Given the description of an element on the screen output the (x, y) to click on. 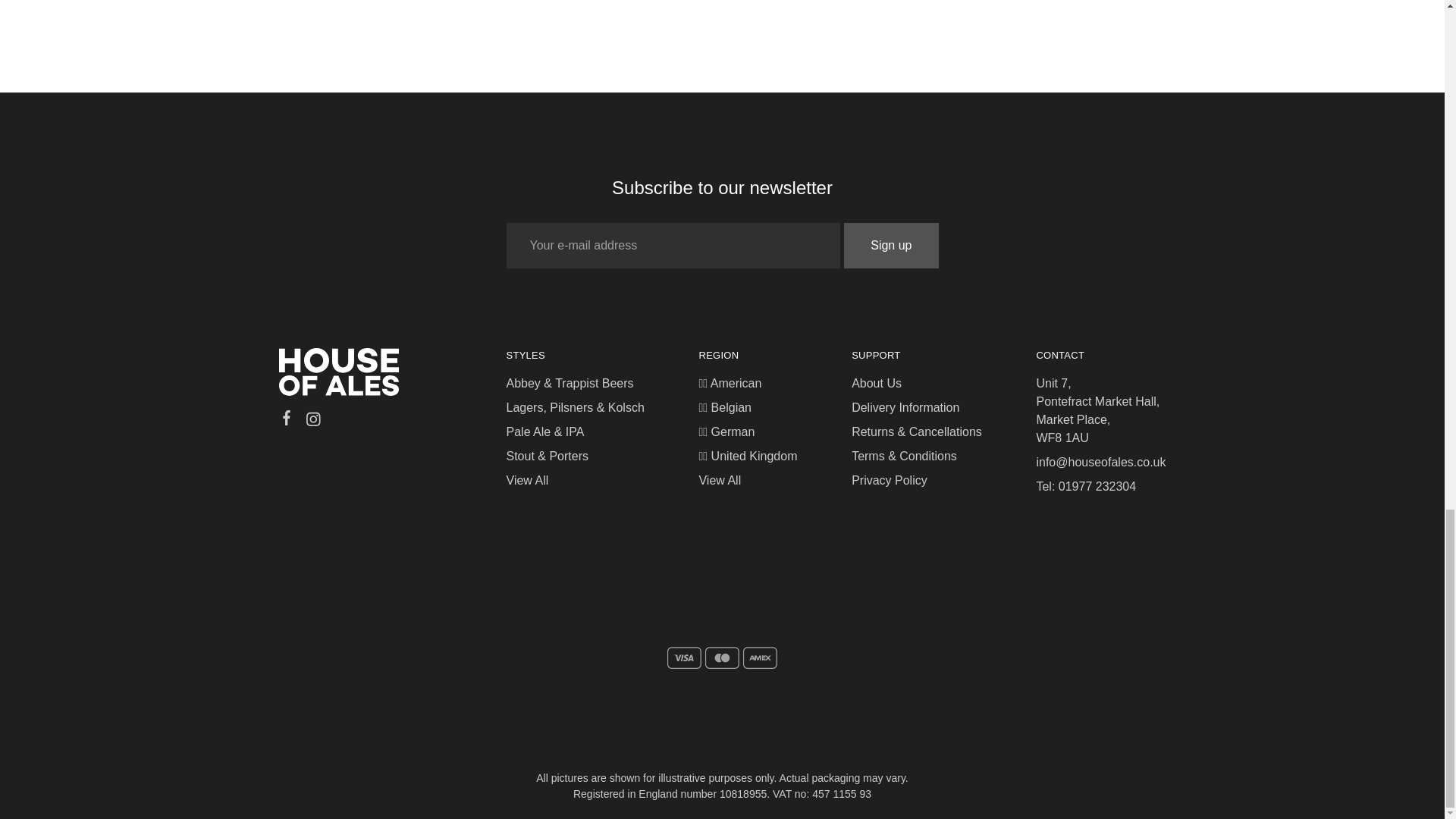
Sign up (890, 245)
Instagram (312, 421)
Facebook (286, 419)
